Given the description of an element on the screen output the (x, y) to click on. 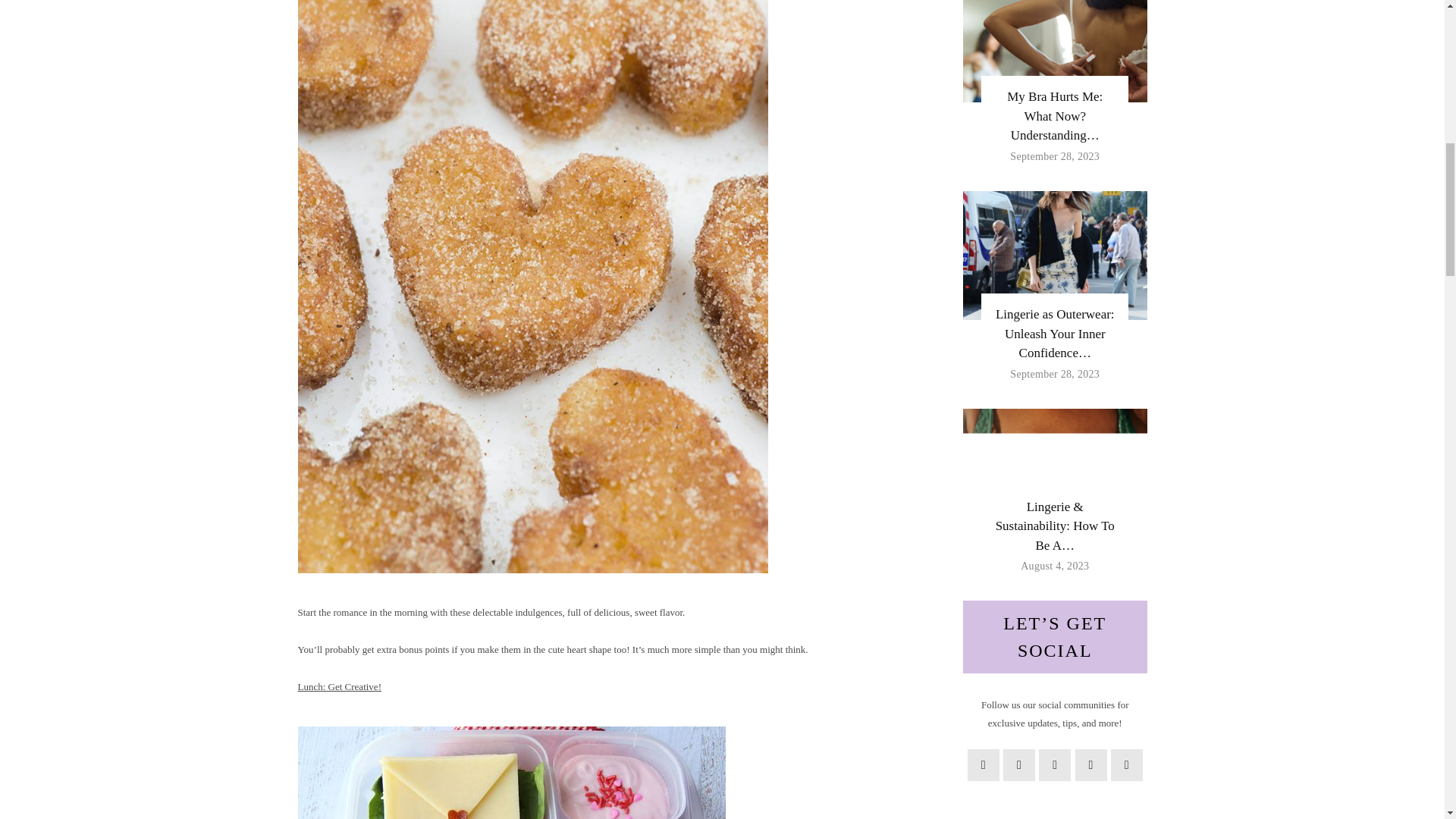
Twitter (1019, 765)
Facebook (983, 765)
Pinterest (1054, 765)
